Given the description of an element on the screen output the (x, y) to click on. 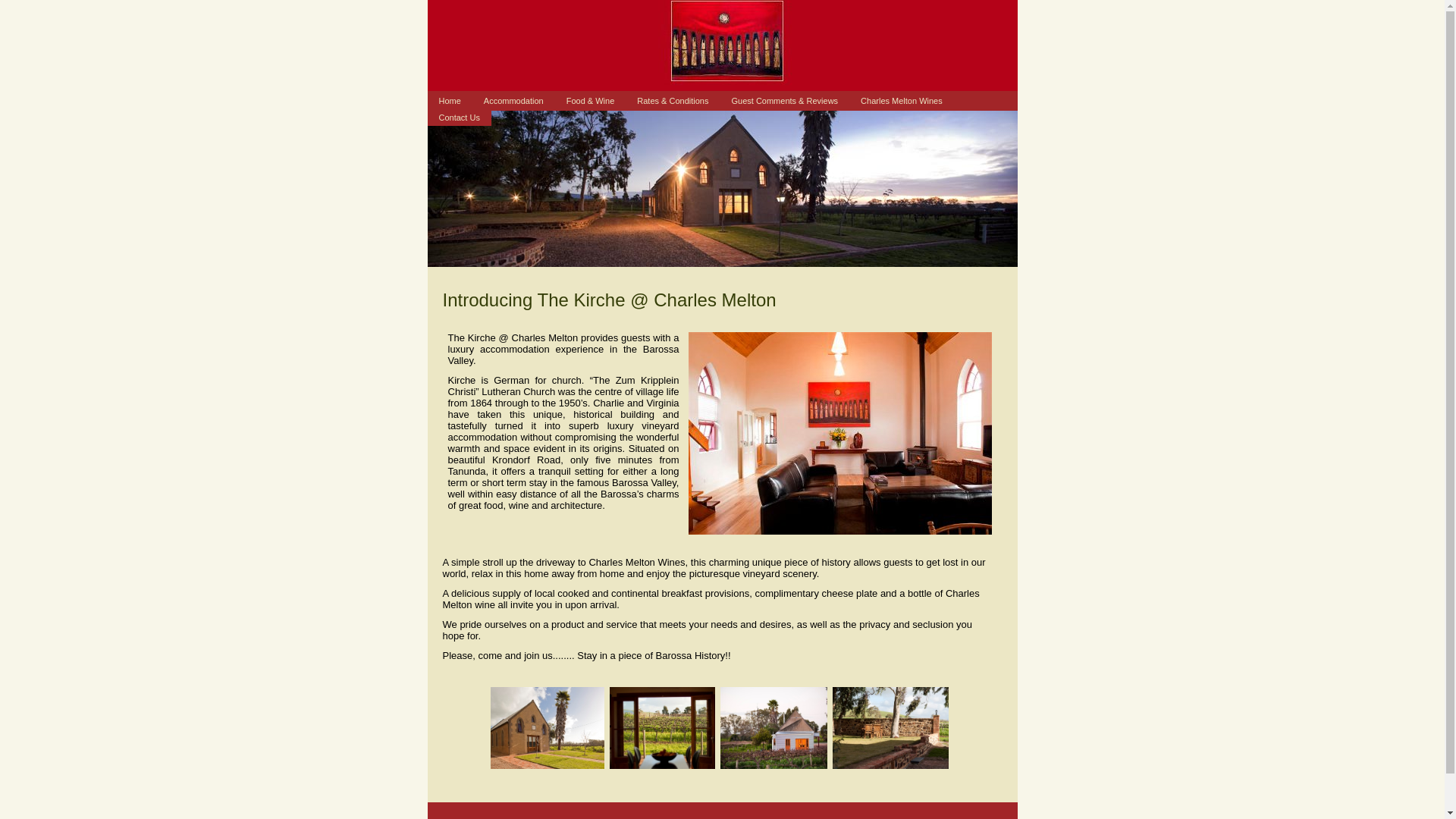
Home Element type: text (449, 100)
Guest Comments & Reviews Element type: text (784, 100)
Rates & Conditions Element type: text (672, 100)
Accommodation Element type: text (513, 100)
Food & Wine Element type: text (590, 100)
Contact Us Element type: text (459, 117)
Charles Melton Wines Element type: text (901, 100)
